Given the description of an element on the screen output the (x, y) to click on. 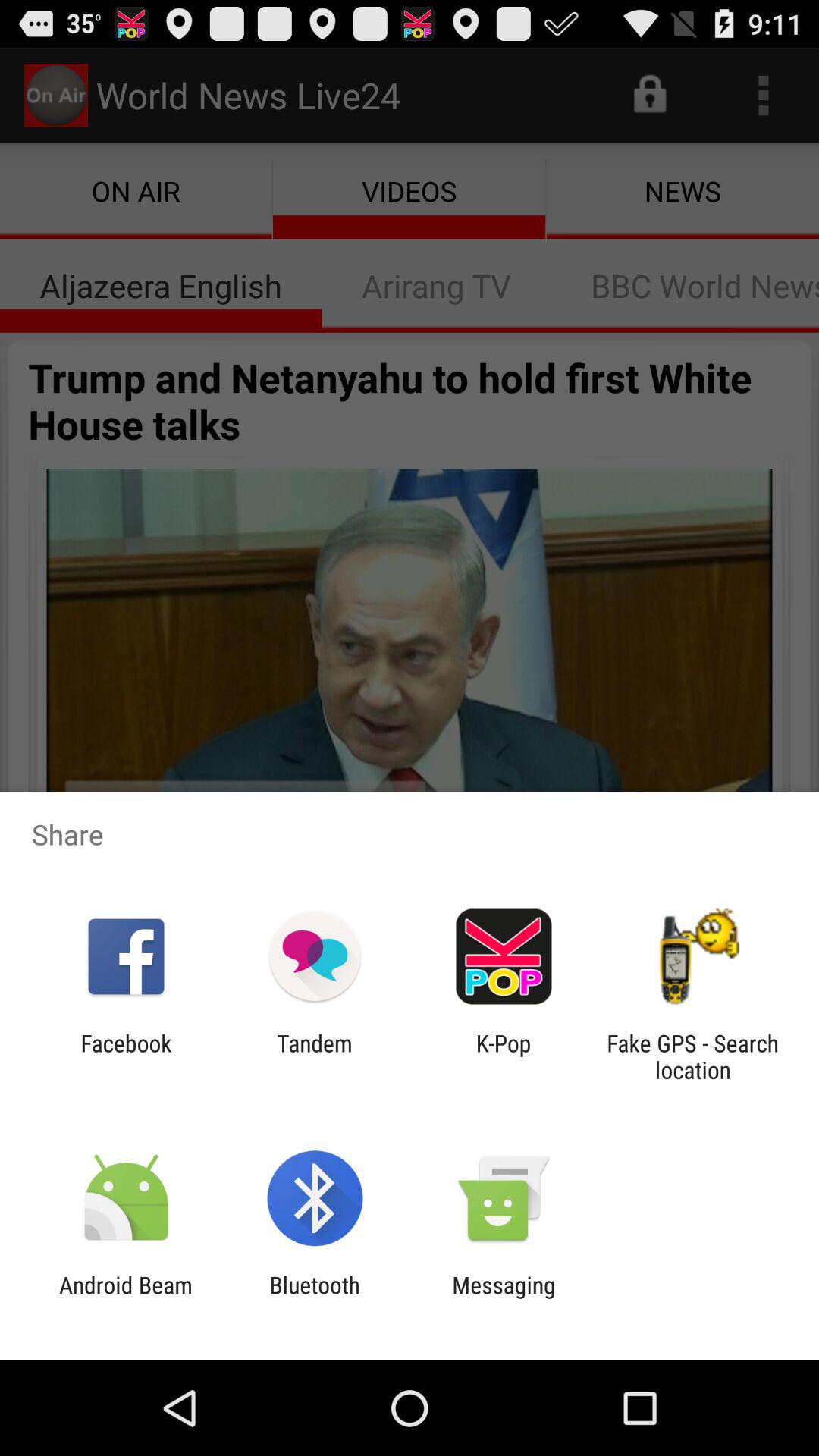
open the facebook app (125, 1056)
